Given the description of an element on the screen output the (x, y) to click on. 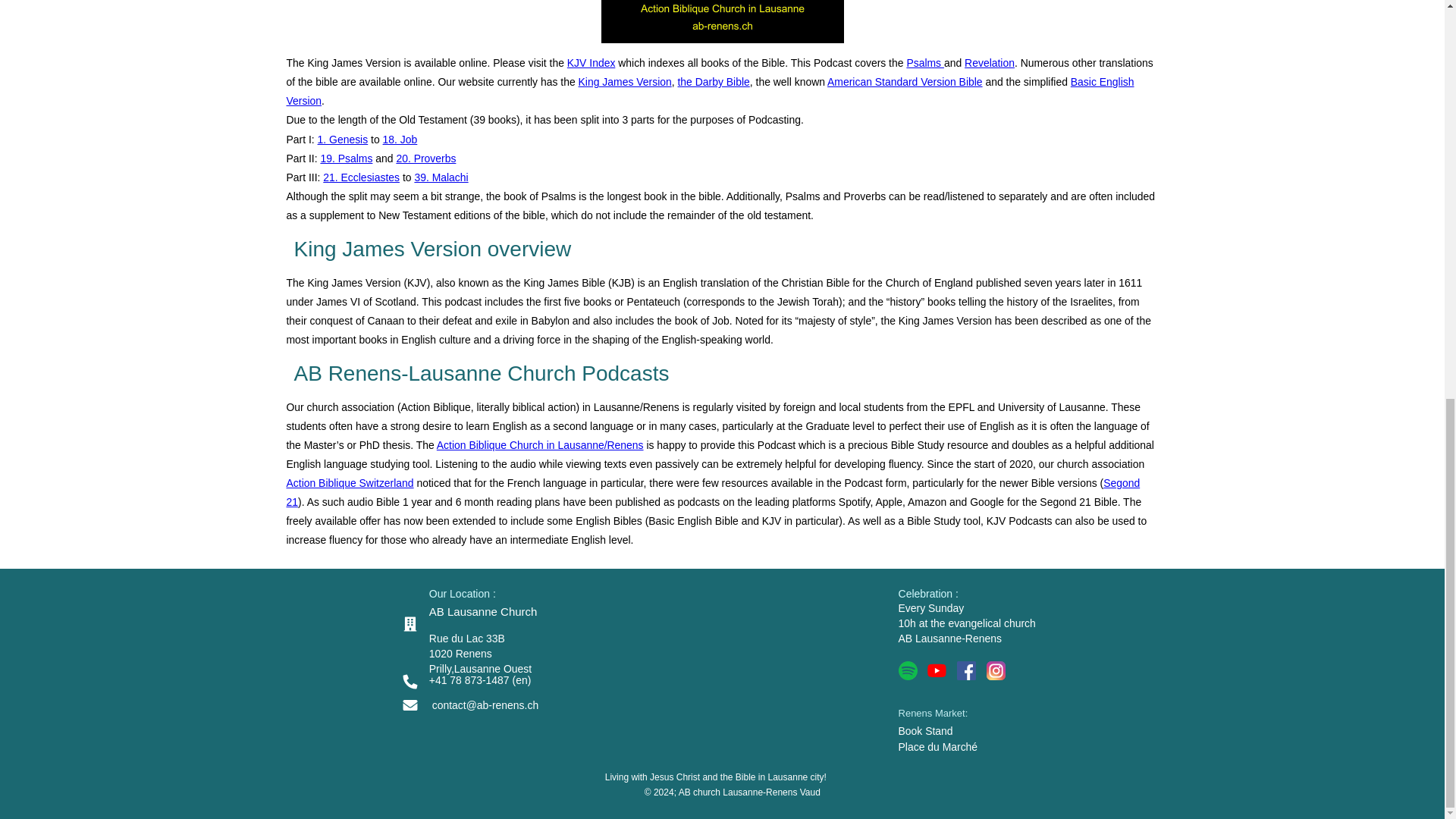
the Darby Bible (713, 81)
American Standard Version Bible (904, 81)
19. Psalms (346, 158)
Psalms (924, 62)
1. Genesis (342, 139)
KJV Index (591, 62)
39. Malachi (440, 177)
Basic English Version (710, 91)
21. Ecclesiastes (360, 177)
King James Version (624, 81)
18. Job (399, 139)
Revelation (988, 62)
20. Proverbs (425, 158)
